Given the description of an element on the screen output the (x, y) to click on. 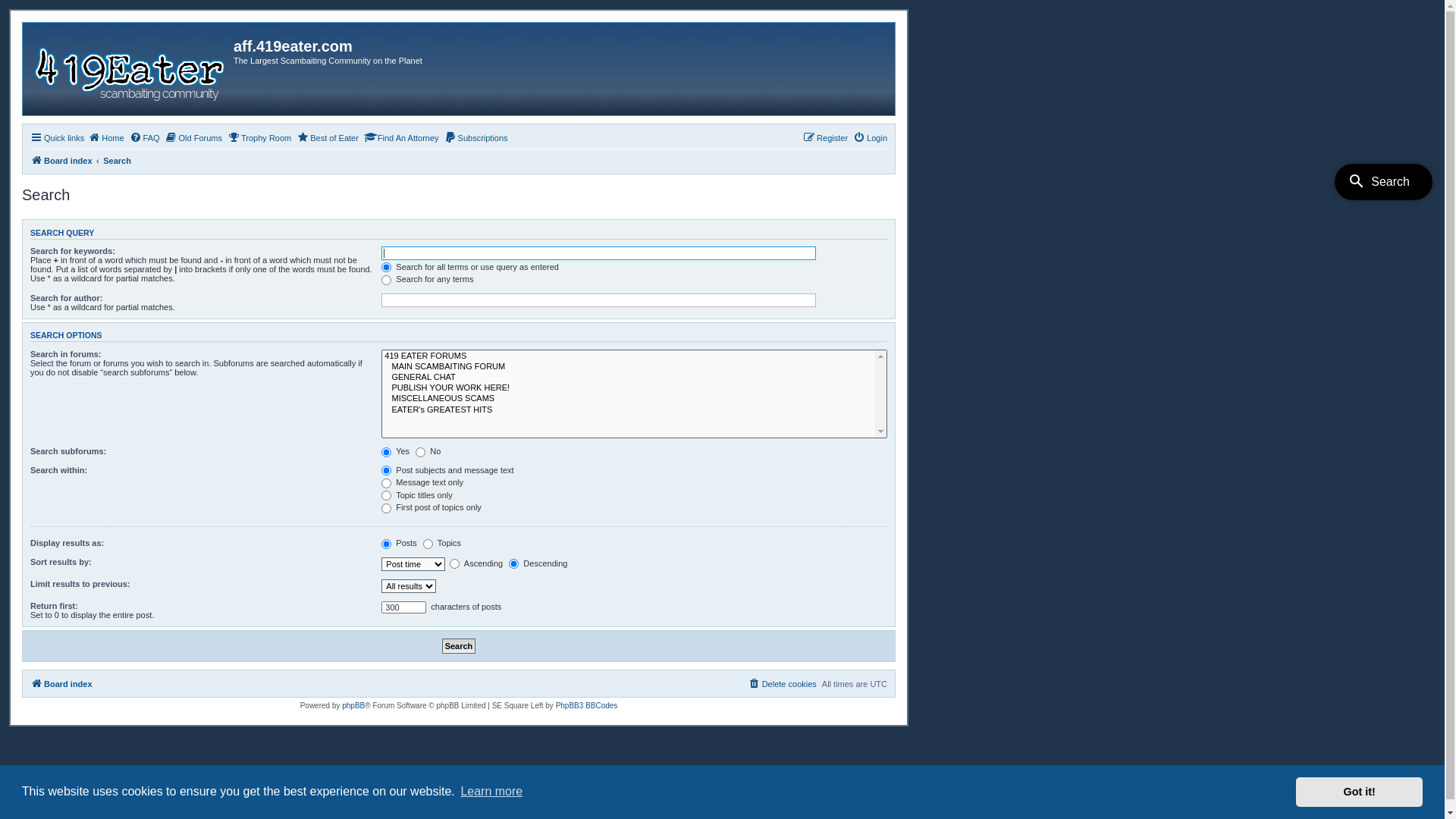
Find An Attorney Element type: text (401, 137)
Best of Eater Element type: text (327, 137)
Board index Element type: text (61, 683)
Search Element type: text (459, 646)
Search for keywords Element type: hover (598, 253)
Login Element type: text (870, 137)
Home Element type: text (105, 137)
Board index Element type: hover (129, 68)
Learn more Element type: text (491, 791)
PhpBB3 BBCodes Element type: text (586, 705)
Search for author Element type: hover (598, 300)
Delete cookies Element type: text (782, 683)
Old Forums Element type: text (193, 137)
phpBB Element type: text (353, 705)
Got it! Element type: text (1358, 791)
Board index Element type: text (61, 160)
Register Element type: text (825, 137)
FAQ Element type: text (144, 137)
Trophy Room Element type: text (259, 137)
Quick links Element type: text (57, 137)
Subscriptions Element type: text (476, 137)
Return first Element type: hover (403, 607)
Search Element type: text (117, 160)
